Given the description of an element on the screen output the (x, y) to click on. 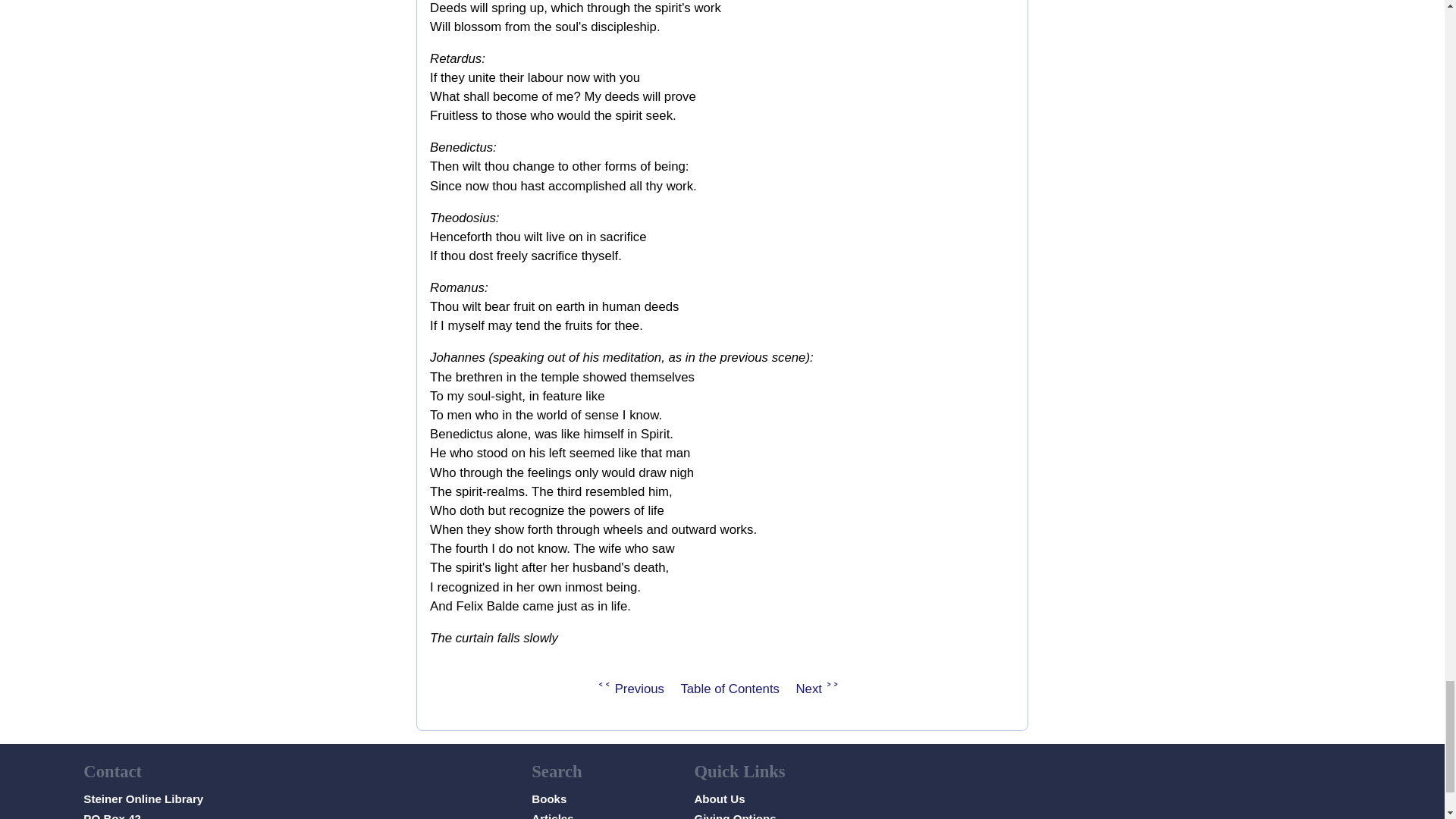
Table of Contents (730, 689)
